Given the description of an element on the screen output the (x, y) to click on. 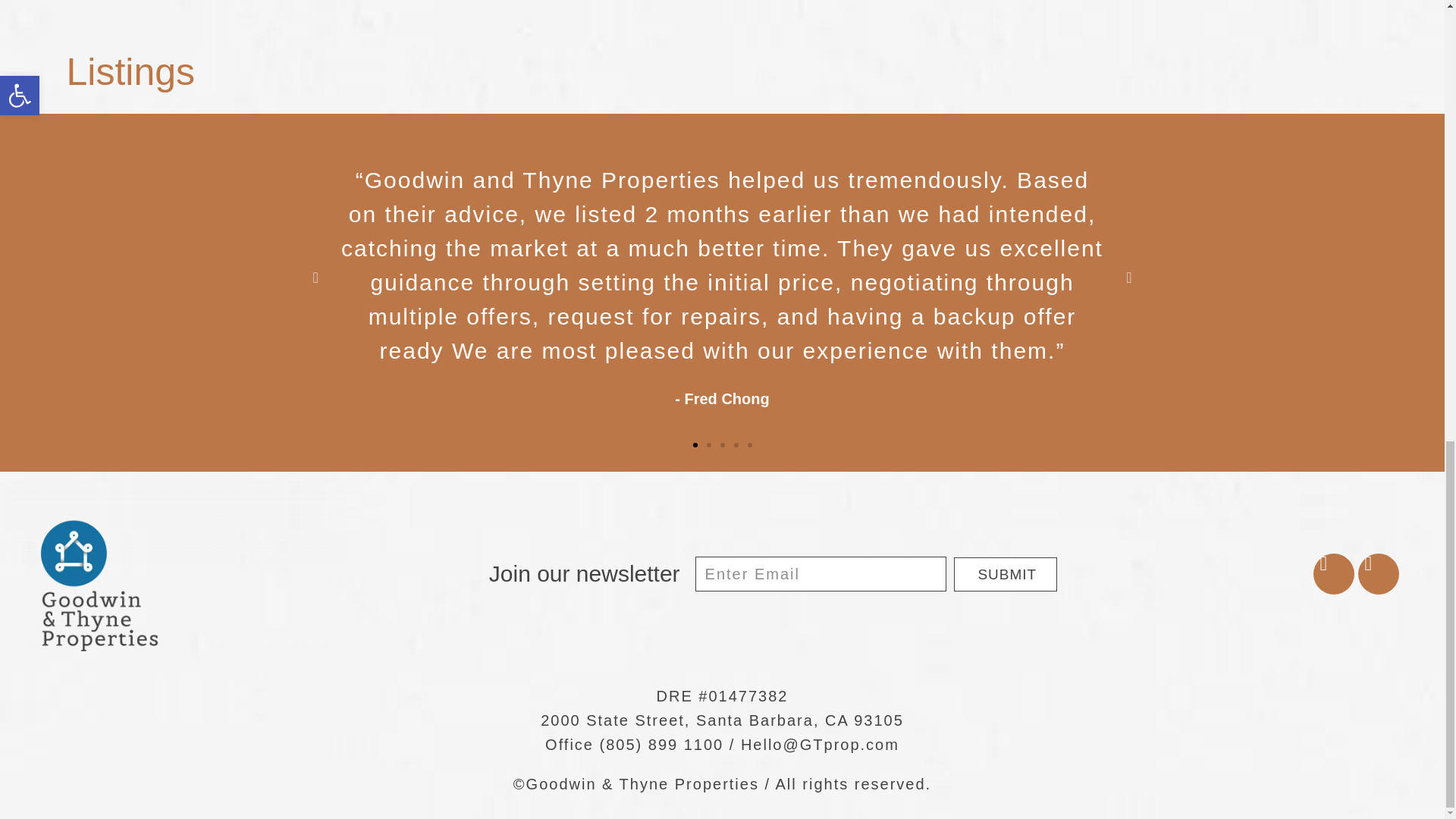
SUBMIT (1005, 574)
